Given the description of an element on the screen output the (x, y) to click on. 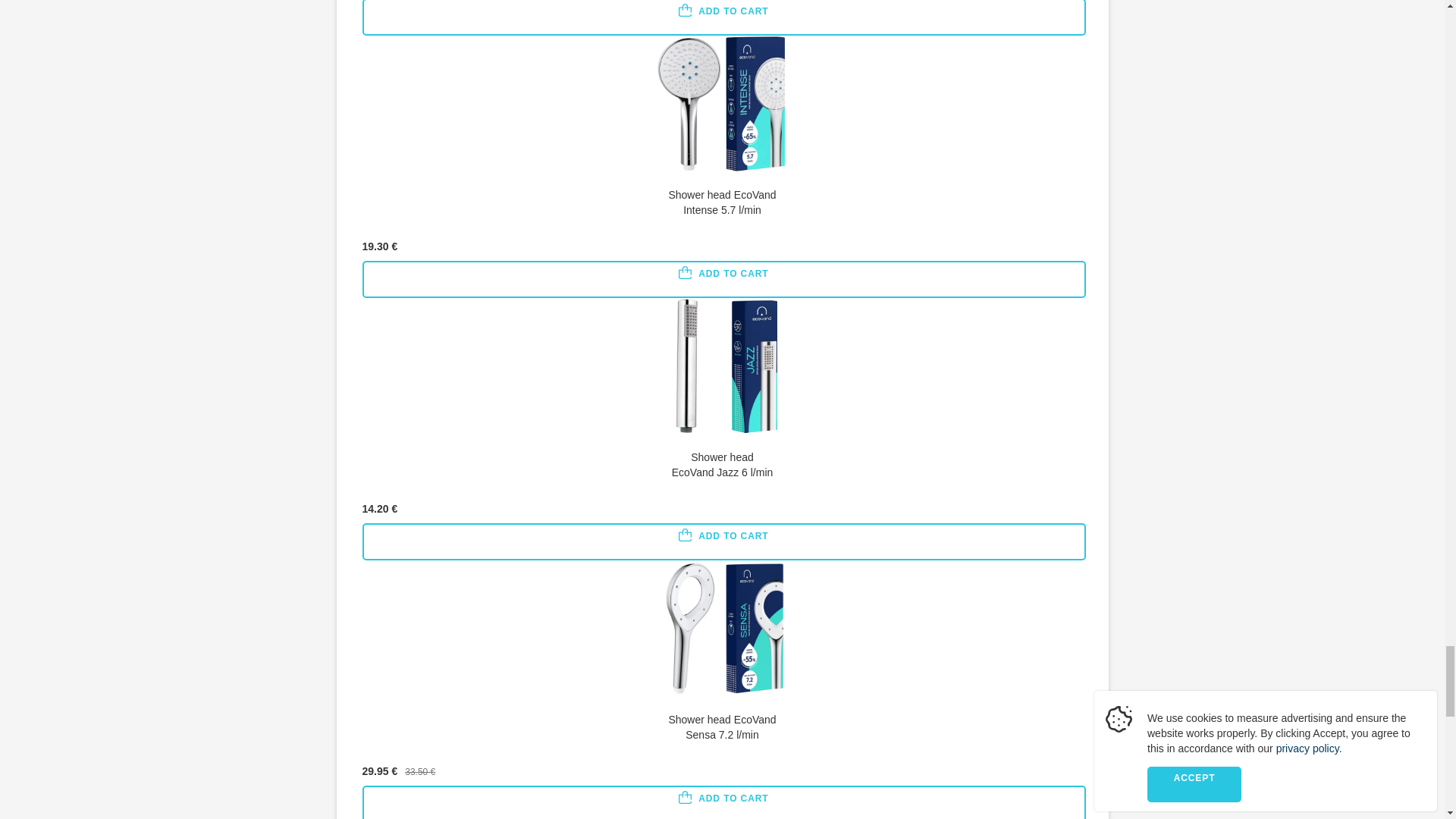
ADD TO CART (724, 541)
ADD TO CART (724, 802)
ADD TO CART (724, 279)
ADD TO CART (724, 18)
